Given the description of an element on the screen output the (x, y) to click on. 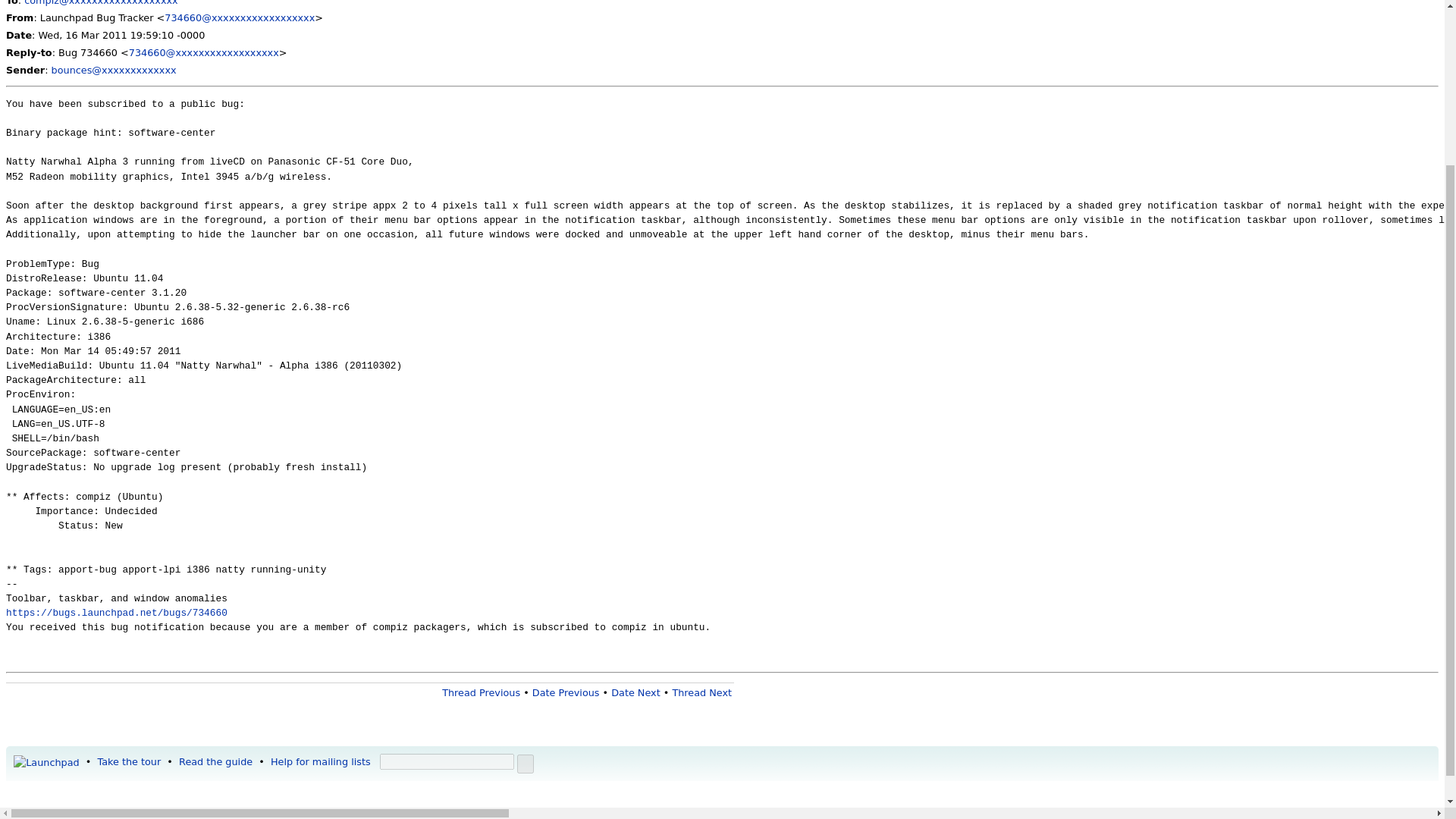
Take the tour (128, 761)
Date Next (635, 692)
Date Previous (565, 692)
Help for mailing lists (320, 761)
Thread Next (701, 692)
Read the guide (215, 761)
Thread Previous (480, 692)
